Given the description of an element on the screen output the (x, y) to click on. 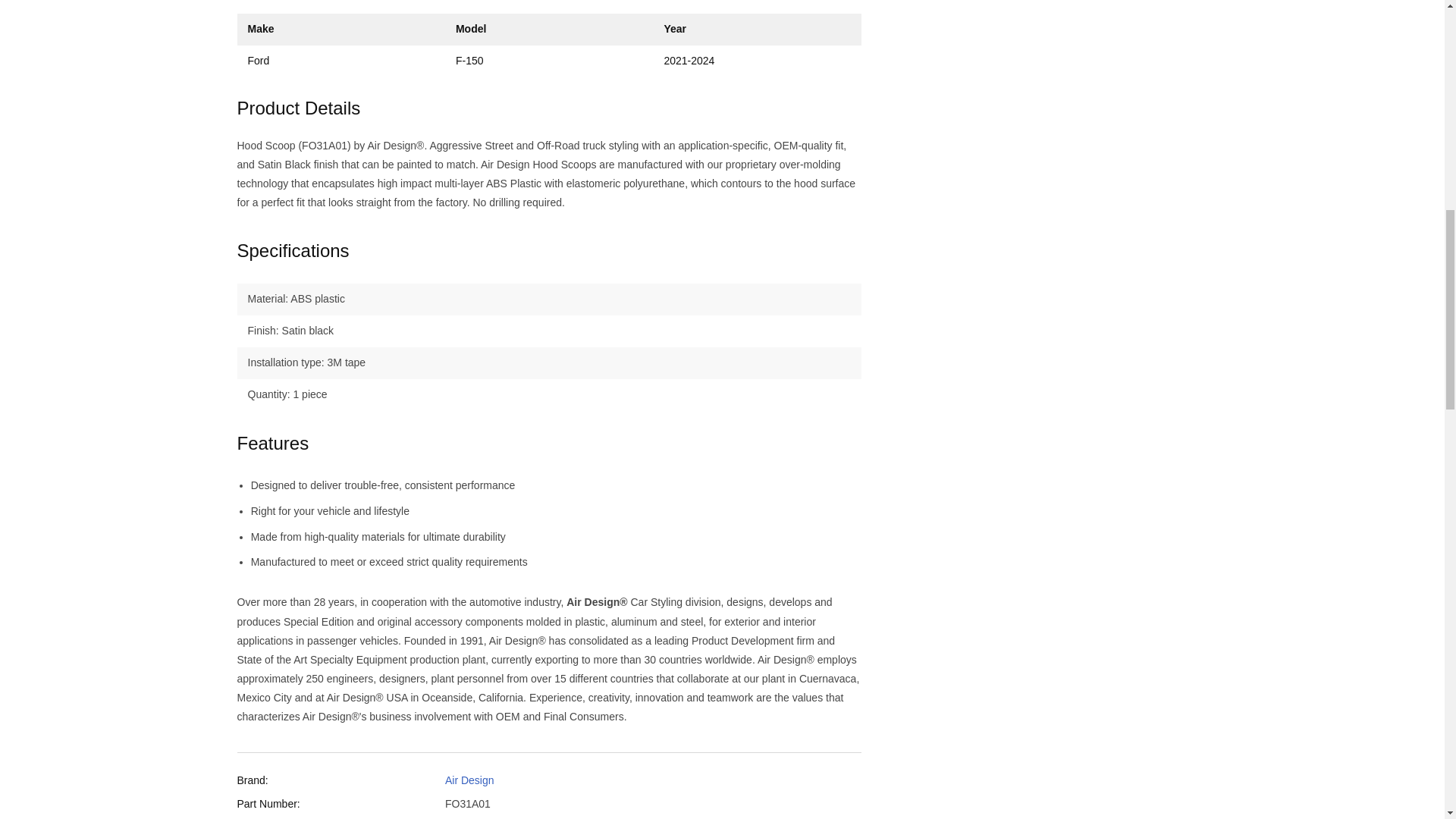
Air Design (470, 779)
